Given the description of an element on the screen output the (x, y) to click on. 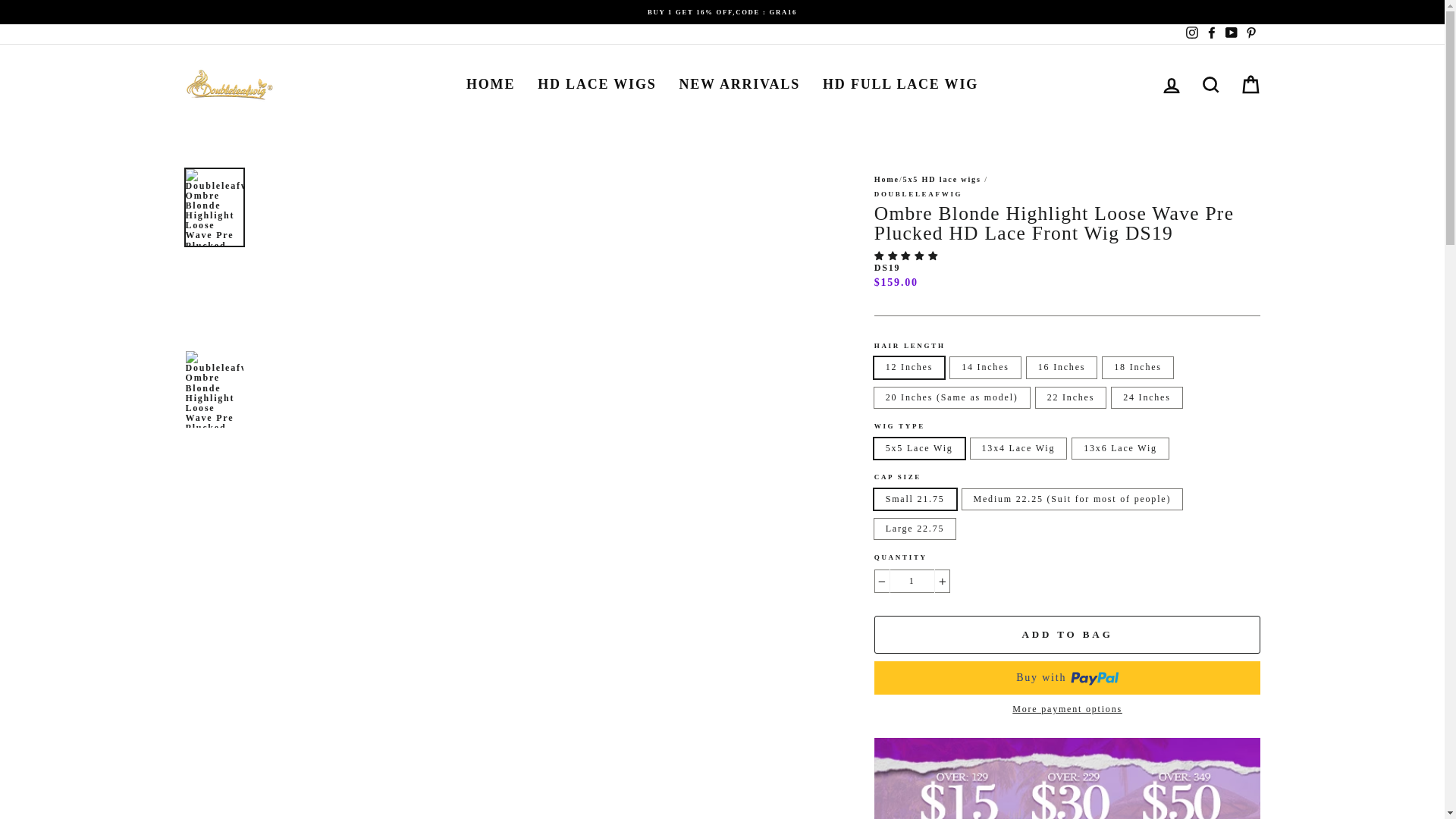
Back to the frontpage (887, 179)
1 (912, 580)
YouTube (1230, 34)
Instagram (1190, 34)
doubleleafwig (918, 194)
